Given the description of an element on the screen output the (x, y) to click on. 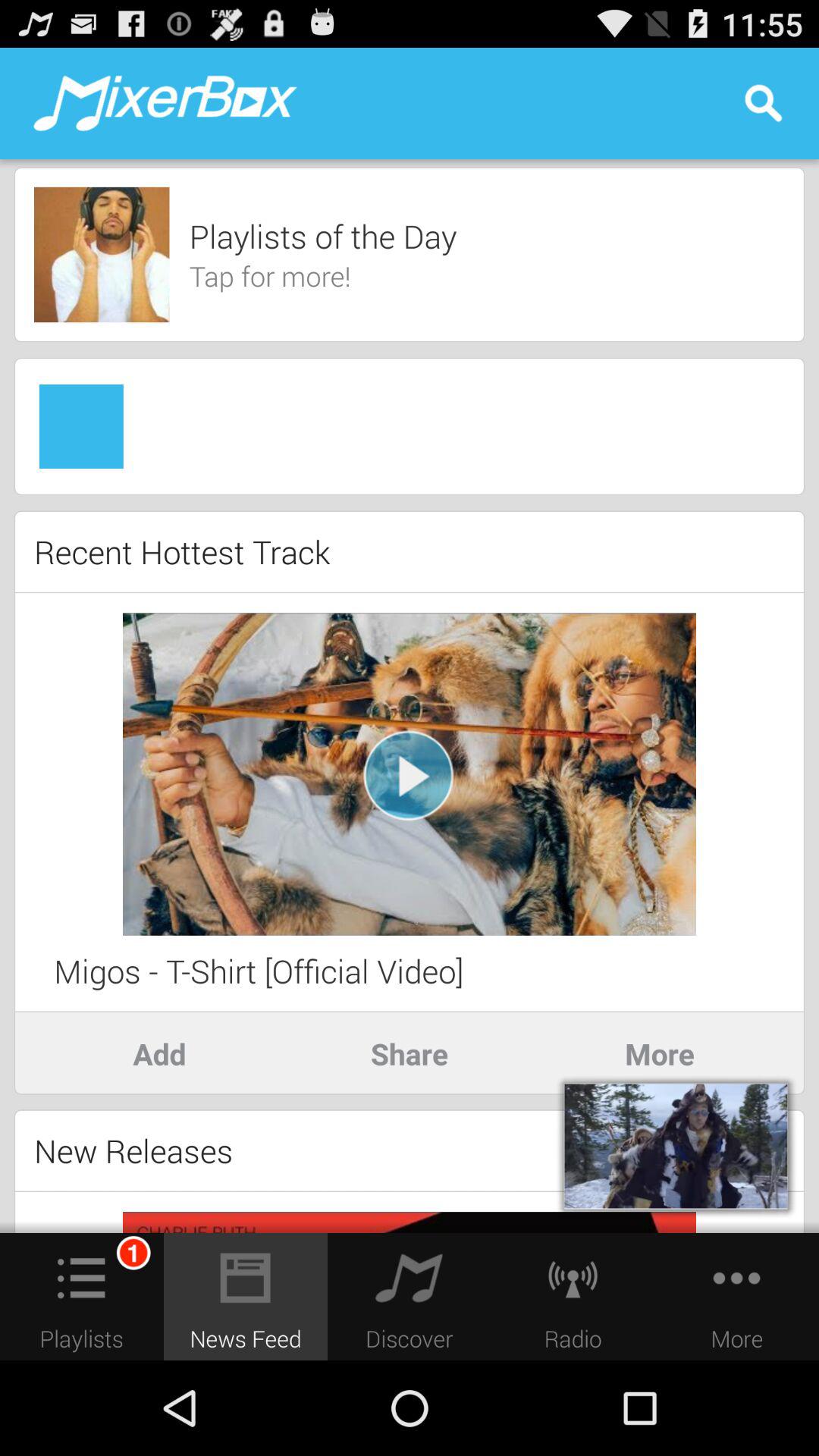
swipe to the recent hottest track (182, 551)
